Given the description of an element on the screen output the (x, y) to click on. 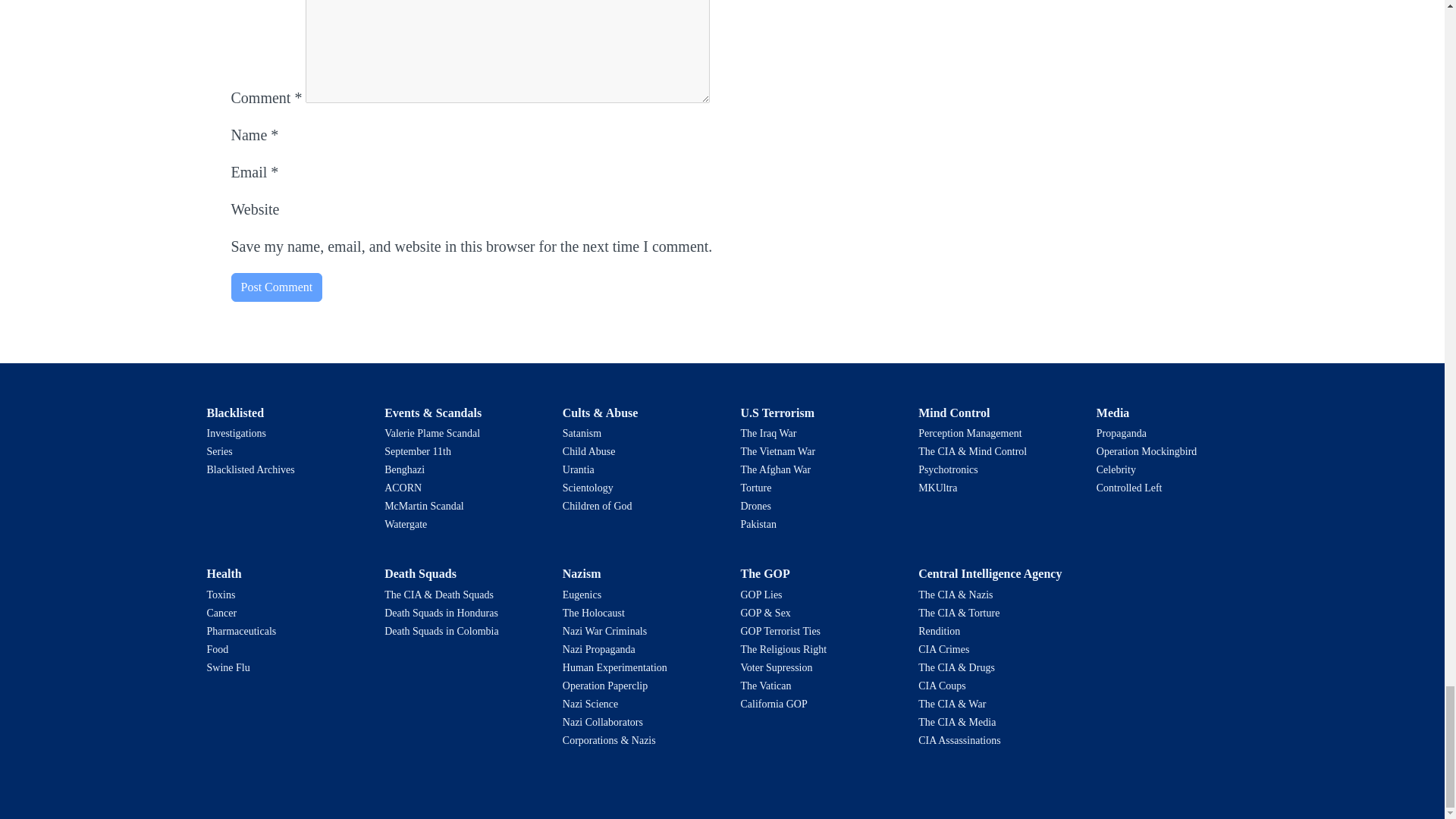
Post Comment (275, 287)
